Given the description of an element on the screen output the (x, y) to click on. 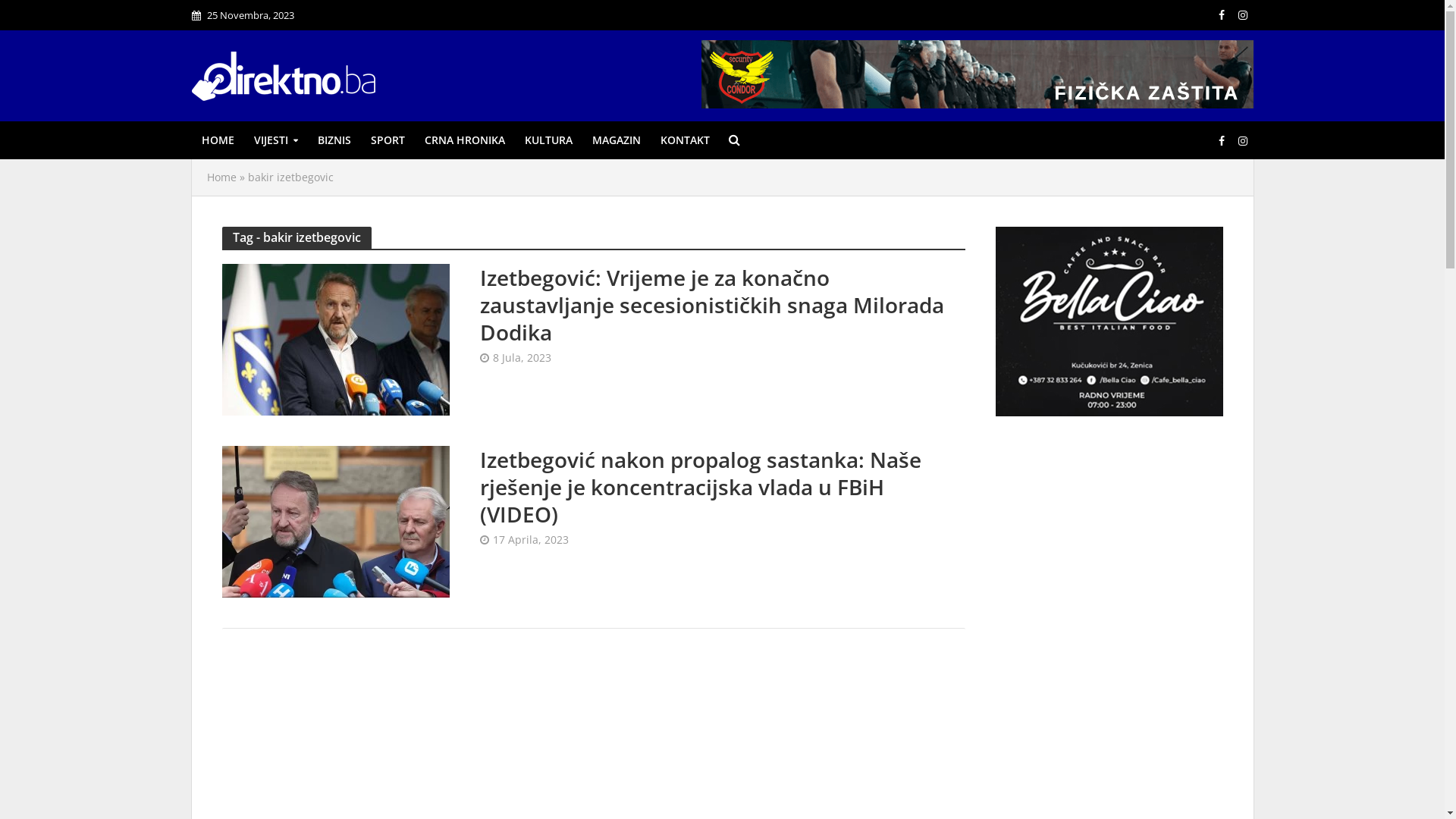
CRNA HRONIKA Element type: text (464, 140)
KULTURA Element type: text (547, 140)
HOME Element type: text (217, 140)
MAGAZIN Element type: text (616, 140)
VIJESTI Element type: text (275, 140)
Home Element type: text (220, 176)
SPORT Element type: text (387, 140)
KONTAKT Element type: text (684, 140)
BIZNIS Element type: text (333, 140)
